Given the description of an element on the screen output the (x, y) to click on. 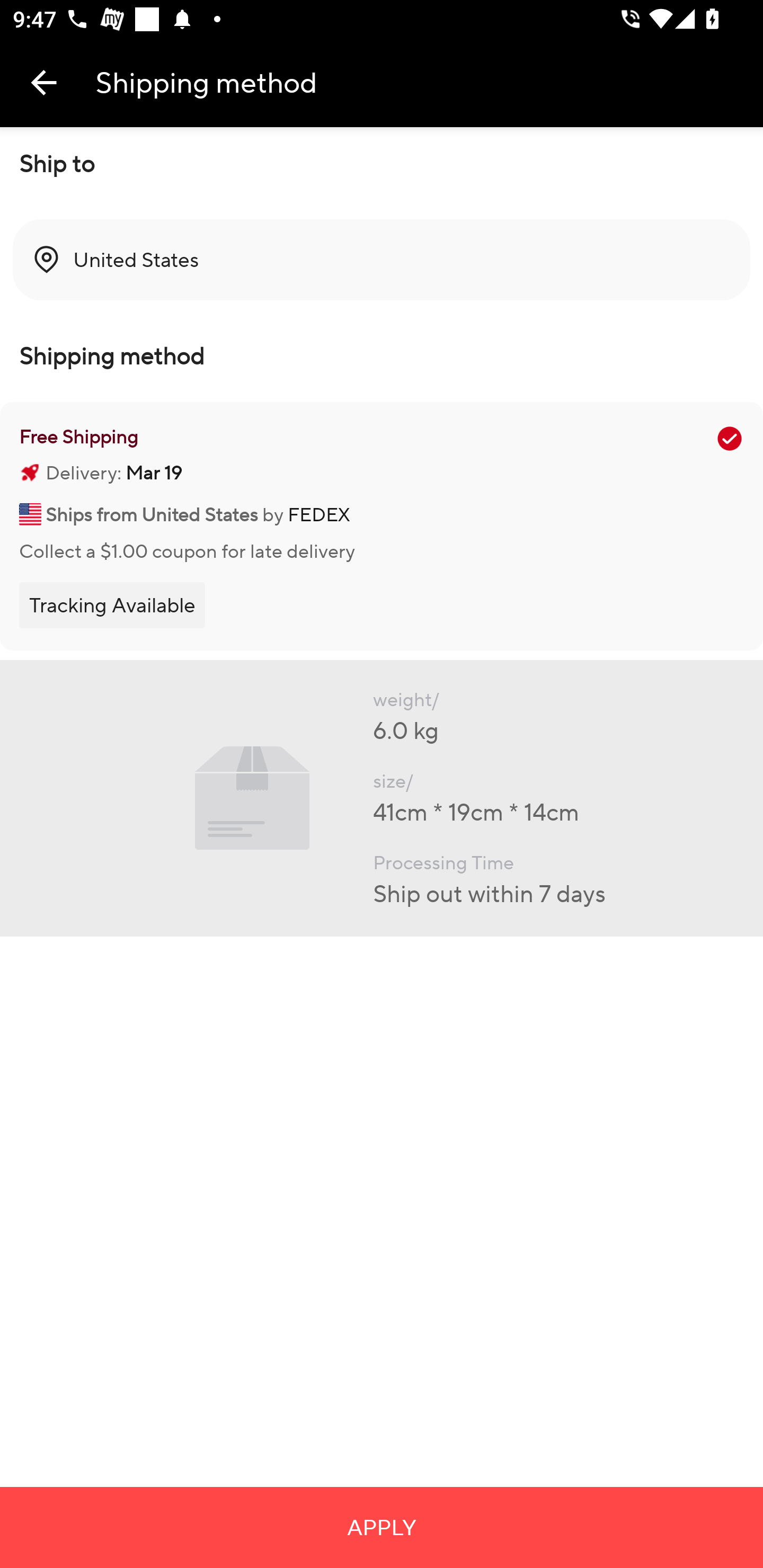
 United States (381, 260)
APPLY (381, 1527)
